Given the description of an element on the screen output the (x, y) to click on. 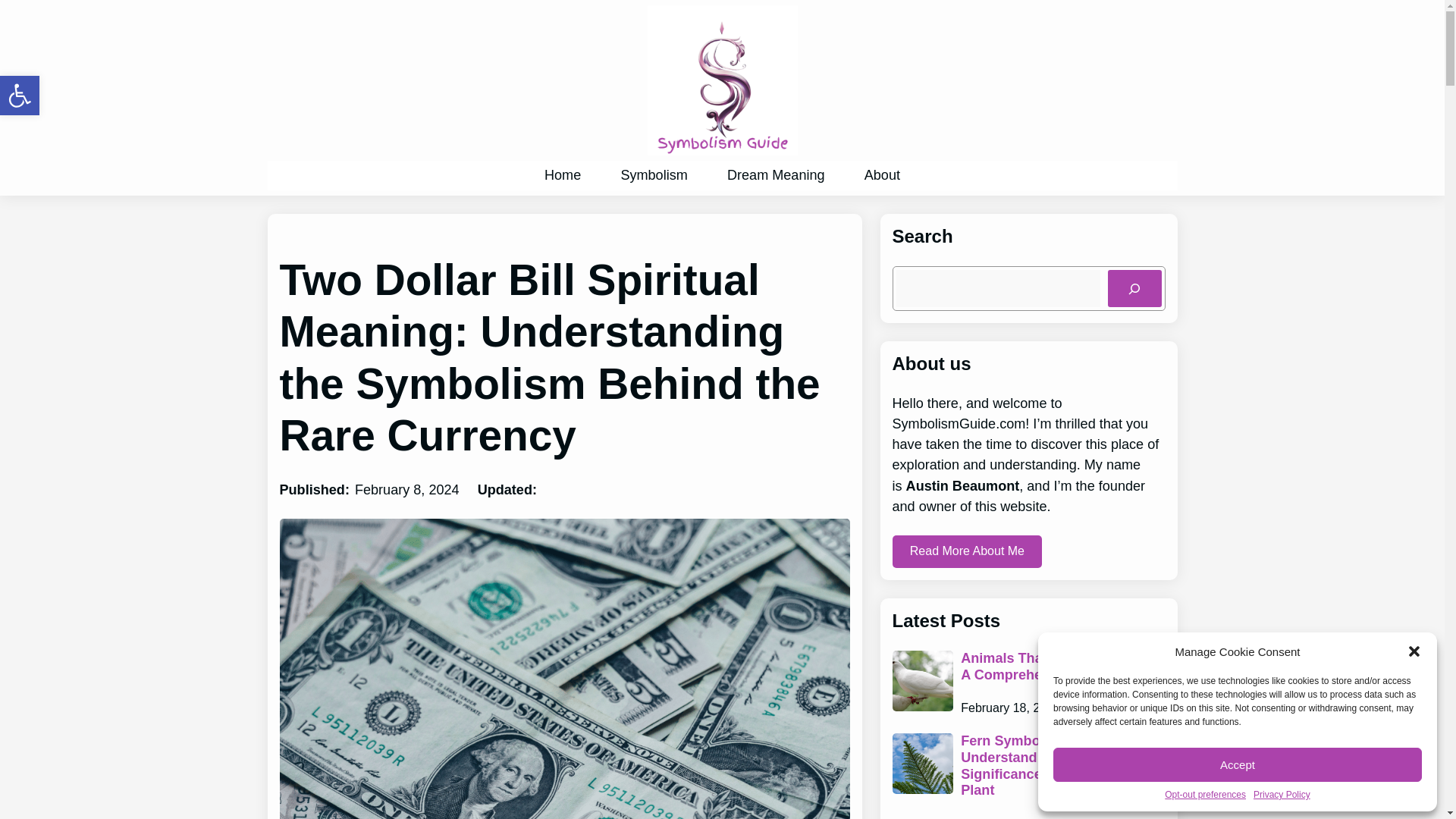
About (882, 175)
Accessibility Tools (19, 95)
Privacy Policy (1281, 794)
Home (562, 175)
Dream Meaning (19, 95)
Symbolism (775, 175)
Accessibility Tools (654, 175)
Opt-out preferences (19, 95)
Accept (1205, 794)
